Given the description of an element on the screen output the (x, y) to click on. 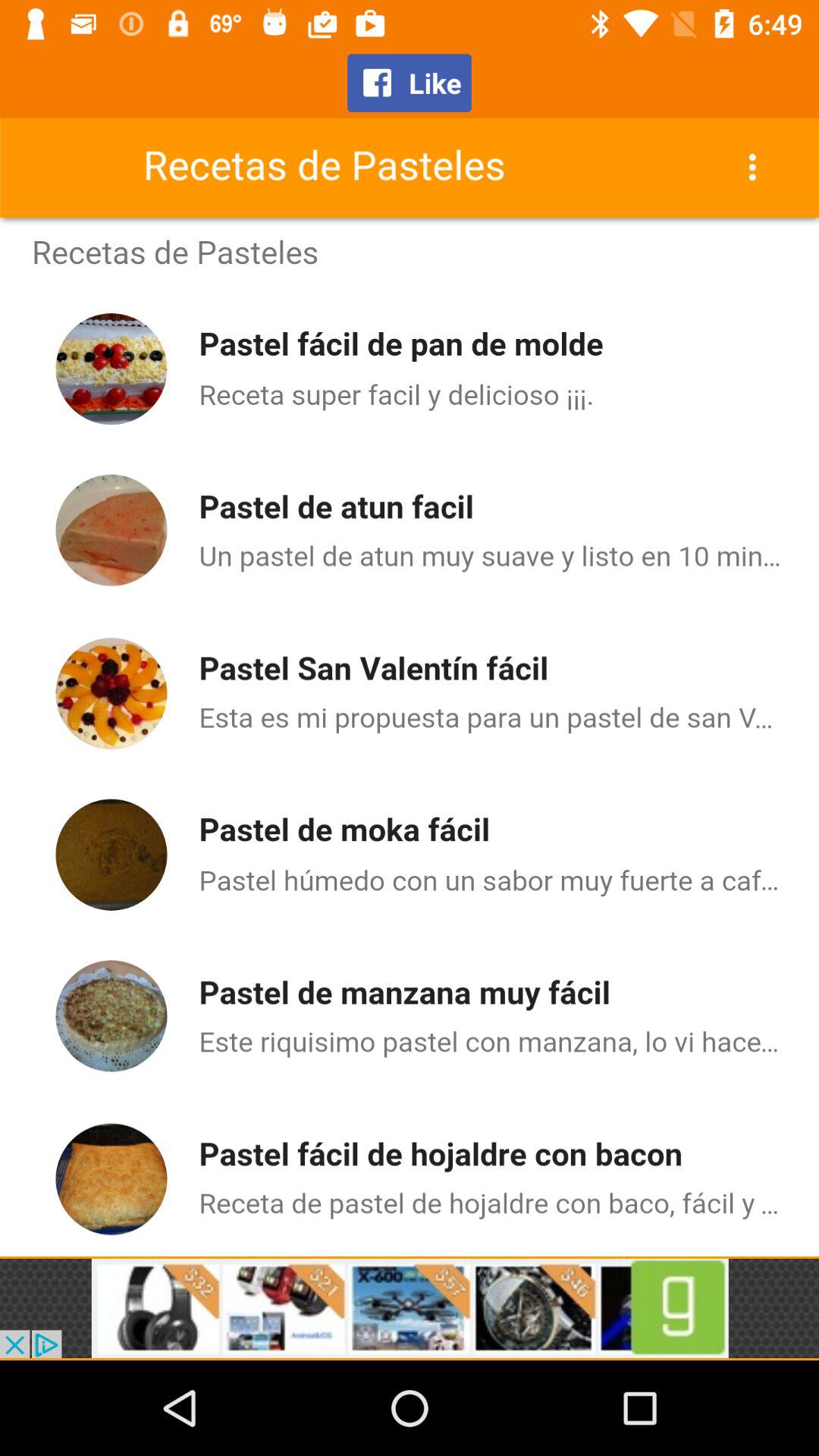
advertisement (409, 1308)
